Given the description of an element on the screen output the (x, y) to click on. 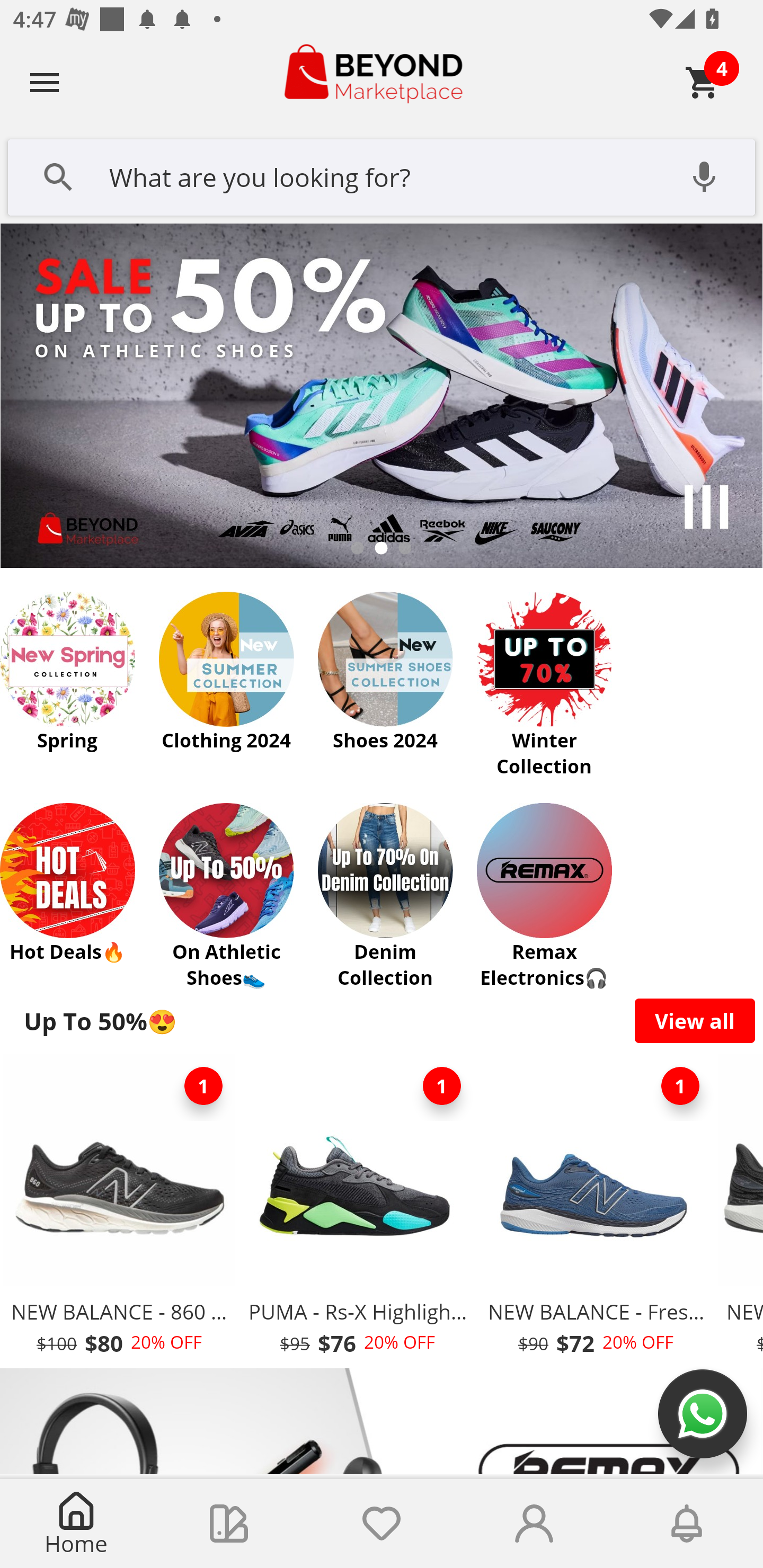
Navigate up (44, 82)
What are you looking for? (381, 175)
View all (694, 1020)
1 NEW BALANCE - 860 Running Shoes $100 $80 20% OFF (119, 1209)
1 (203, 1085)
1 (441, 1085)
1 (680, 1085)
Collections (228, 1523)
Wishlist (381, 1523)
Account (533, 1523)
Notifications (686, 1523)
